Given the description of an element on the screen output the (x, y) to click on. 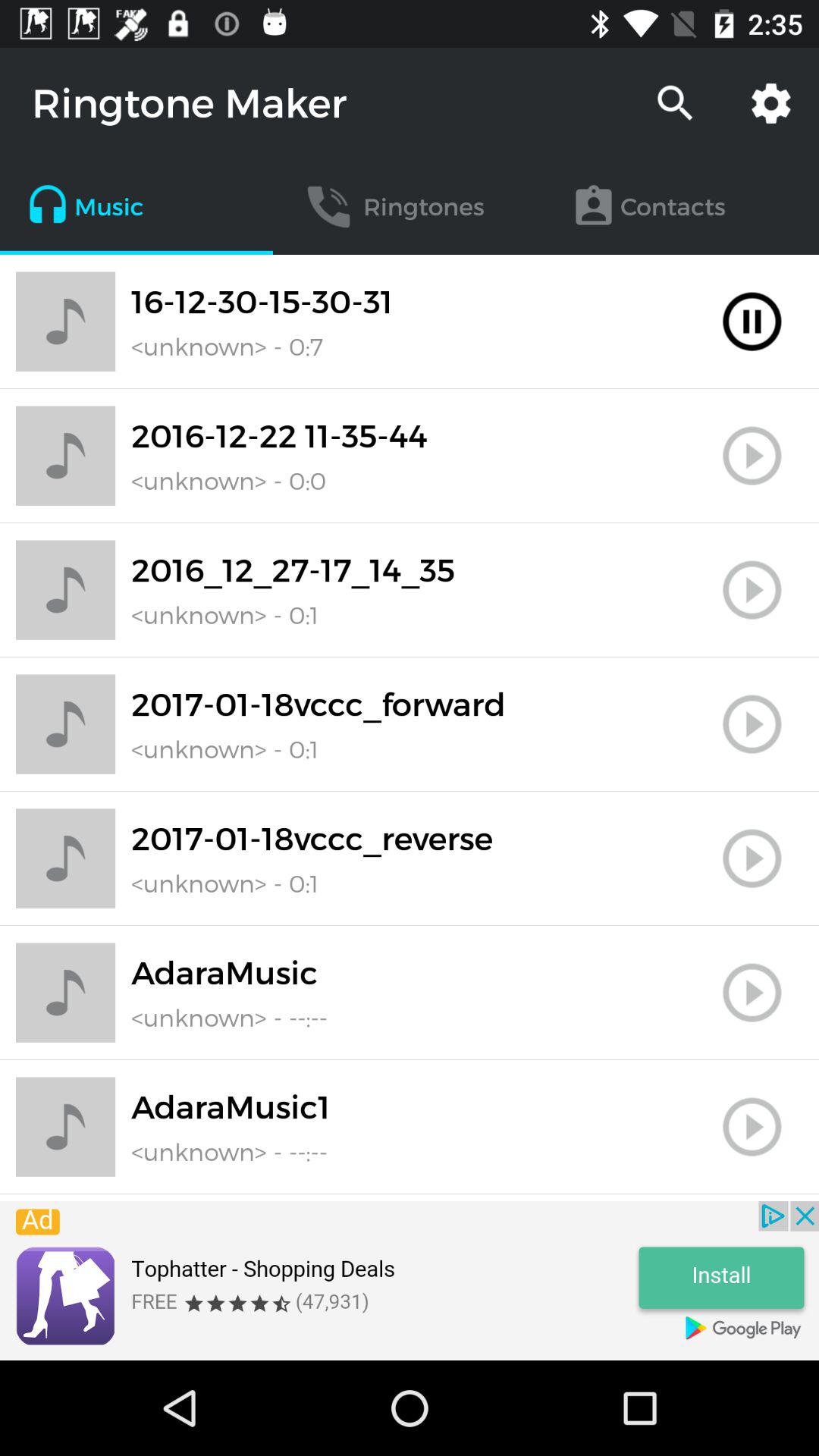
toggle play option (752, 724)
